Given the description of an element on the screen output the (x, y) to click on. 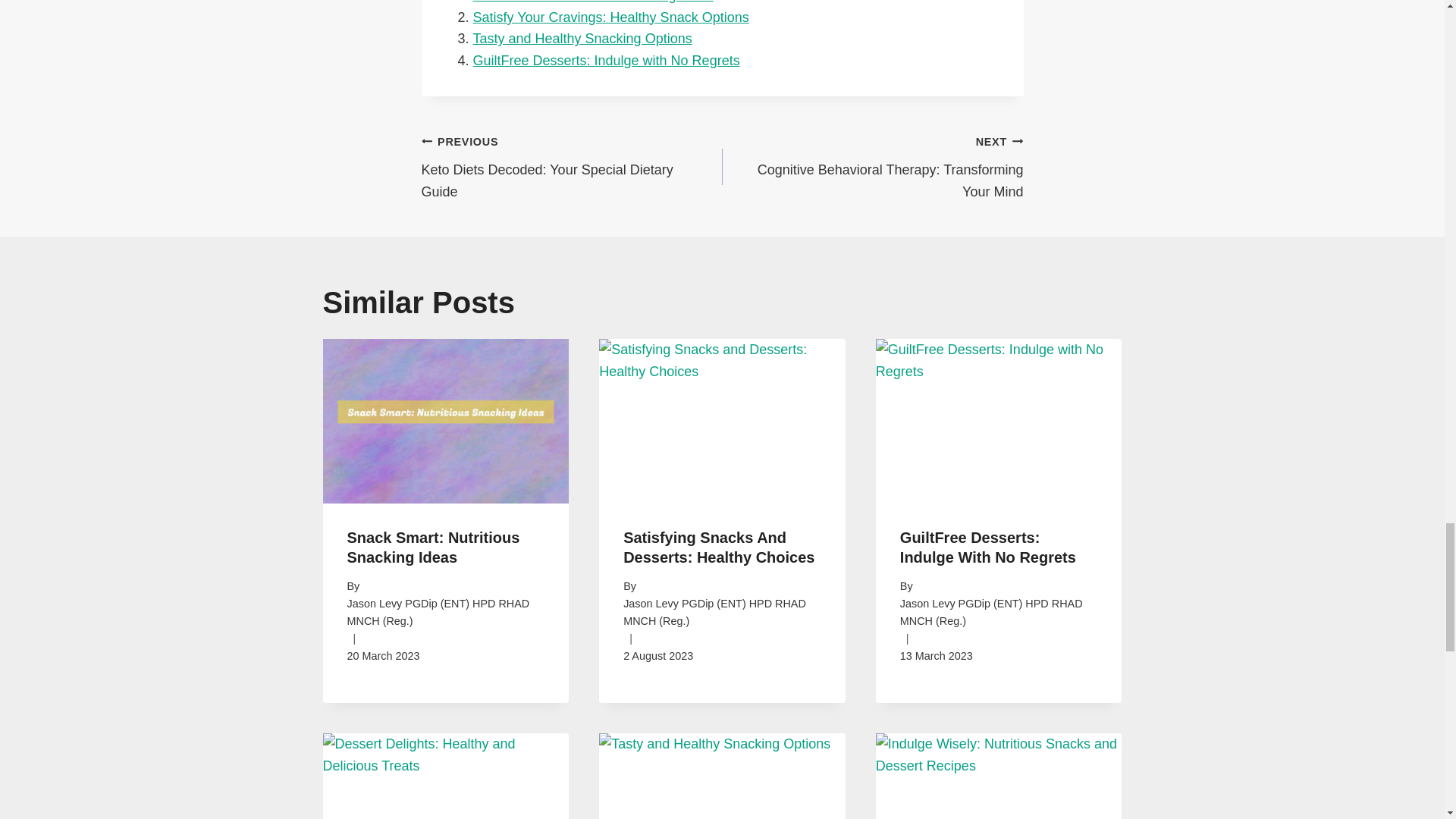
Satisfying Snacks And Desserts: Healthy Choices (718, 547)
Tasty and Healthy Snacking Options (583, 38)
Snack Smart: Nutritious Snacking Ideas (593, 1)
Snack Smart: Nutritious Snacking Ideas (593, 1)
GuiltFree Desserts: Indulge with No Regrets (606, 60)
GuiltFree Desserts: Indulge With No Regrets (572, 166)
GuiltFree Desserts: Indulge with No Regrets (987, 547)
Satisfy Your Cravings: Healthy Snack Options (606, 60)
Snack Smart: Nutritious Snacking Ideas (872, 166)
Satisfy Your Cravings: Healthy Snack Options (611, 17)
Tasty and Healthy Snacking Options (433, 547)
